Given the description of an element on the screen output the (x, y) to click on. 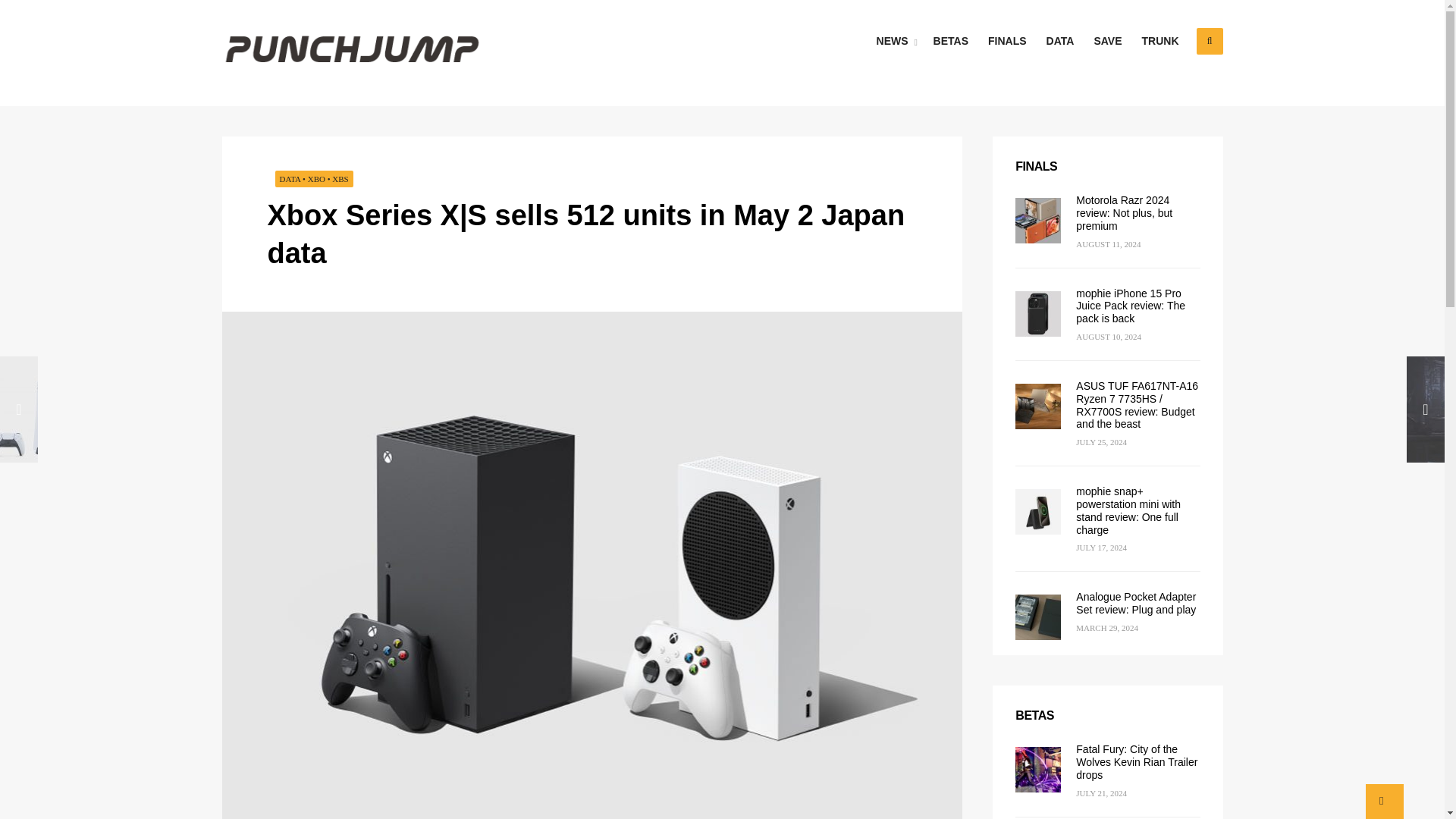
TRUNK (1160, 40)
DATA (1060, 40)
BETAS (950, 40)
XBO (315, 178)
mophie iPhone 15 Pro Juice Pack review: The pack is back (1130, 306)
NEWS (895, 40)
mophie iPhone 15 Pro Juice Pack review: The pack is back (1130, 306)
Motorola Razr 2024 review: Not plus, but premium (1123, 212)
Motorola Razr 2024 review: Not plus, but premium (1123, 212)
FINALS (1006, 40)
